Given the description of an element on the screen output the (x, y) to click on. 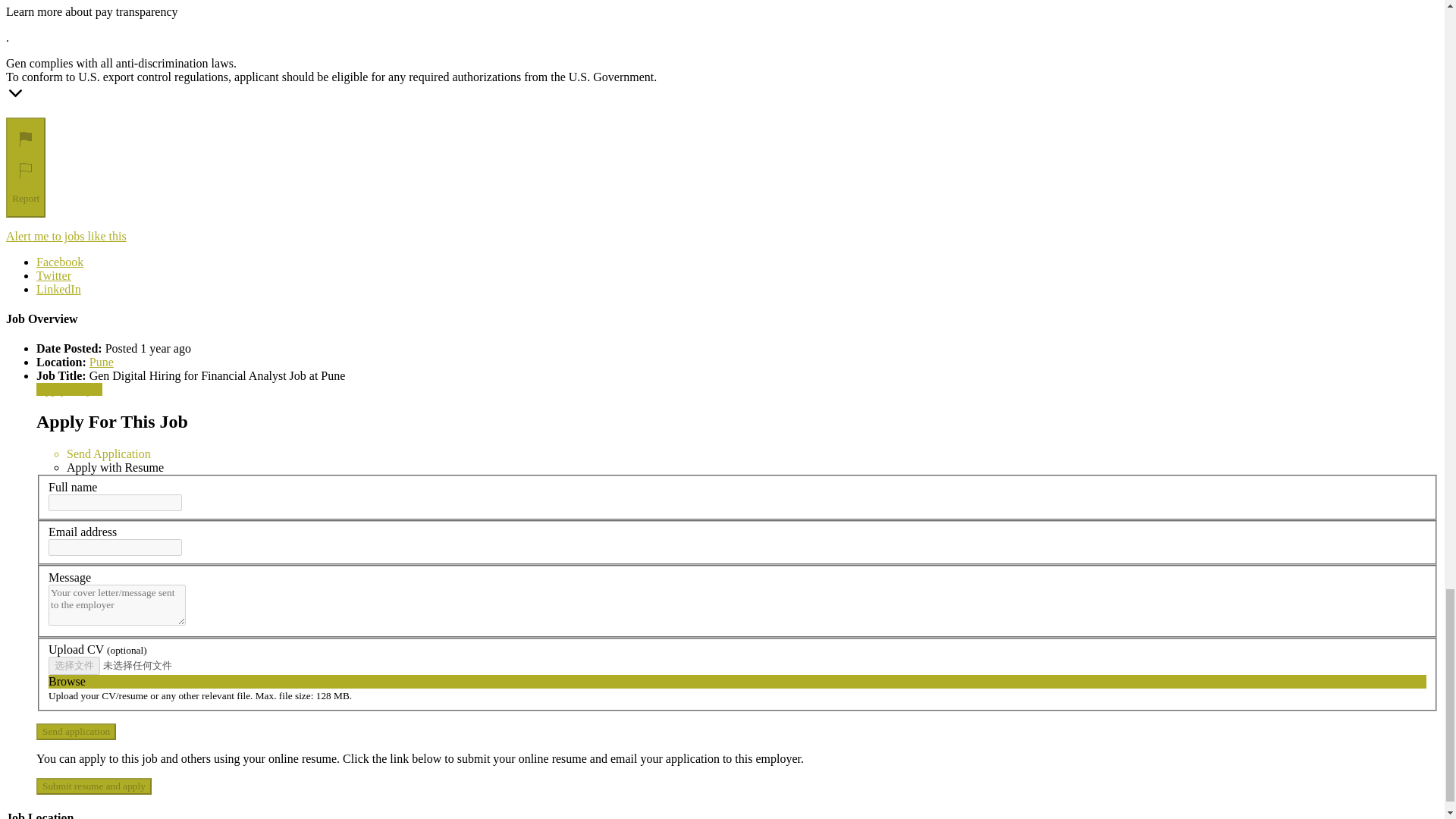
Alert me to jobs like this (65, 236)
Twitter (53, 275)
Report (25, 167)
Twitter (53, 275)
Facebook (59, 261)
